Given the description of an element on the screen output the (x, y) to click on. 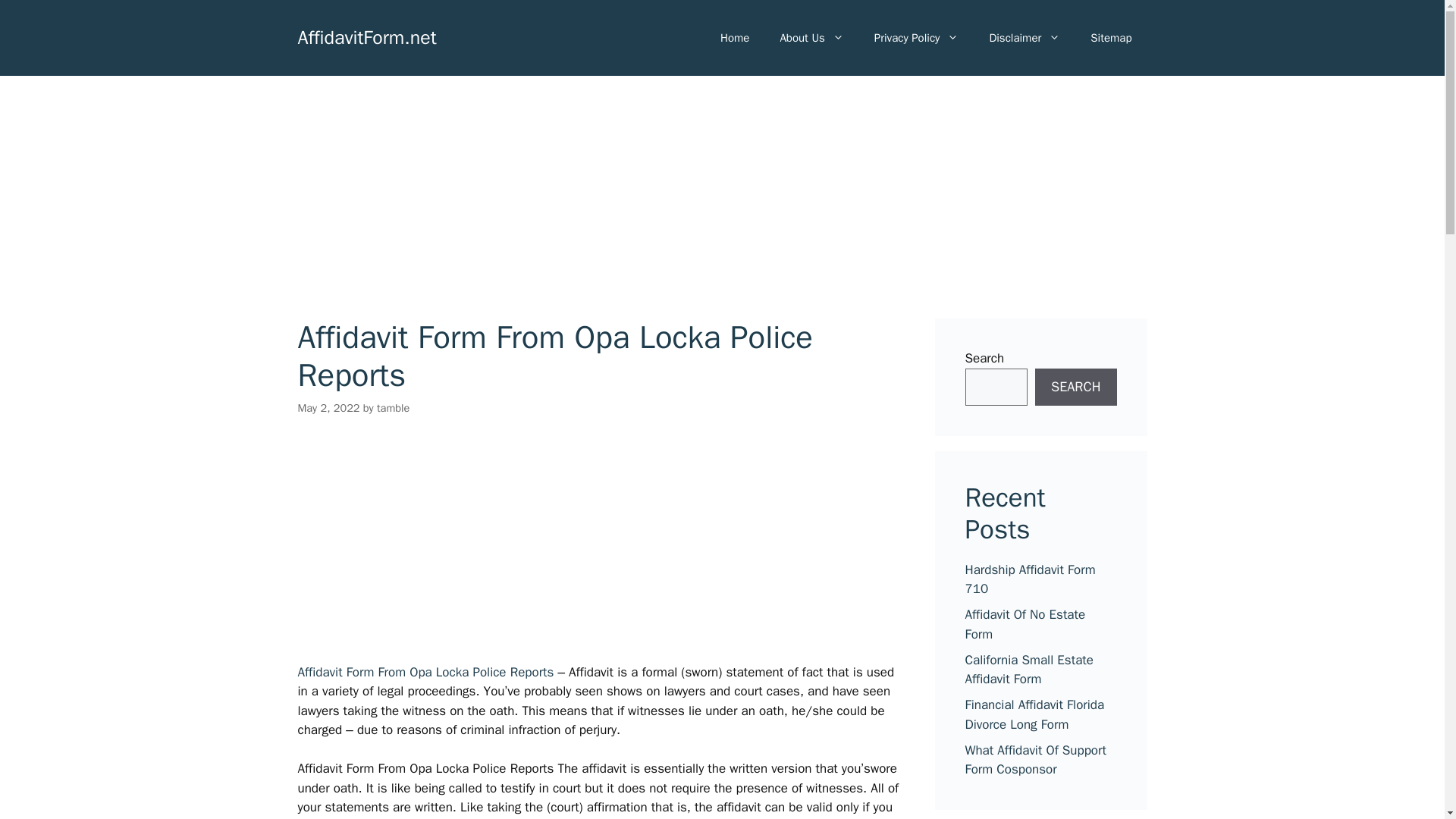
Hardship Affidavit Form 710 (1028, 579)
View all posts by tamble (393, 407)
California Small Estate Affidavit Form (1028, 669)
Sitemap (1111, 37)
Privacy Policy (916, 37)
About Us (811, 37)
SEARCH (1075, 386)
Financial Affidavit Florida Divorce Long Form (1033, 714)
